Given the description of an element on the screen output the (x, y) to click on. 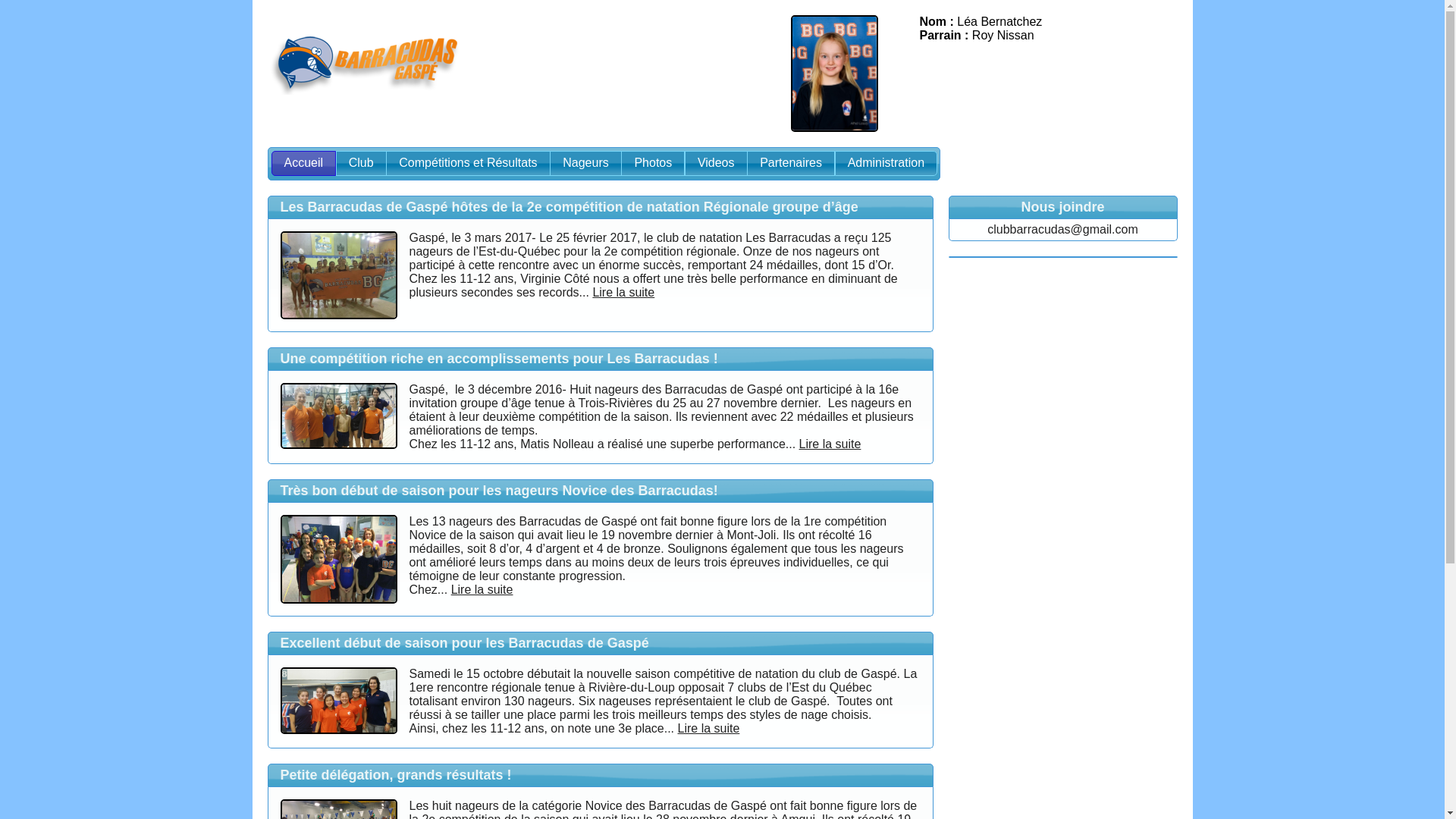
Nageurs Element type: text (585, 162)
clubbarracudas@gmail.com Element type: text (1062, 228)
Accueil Element type: text (303, 162)
Lire la suite Element type: text (830, 443)
Partenaires Element type: text (790, 162)
Lire la suite Element type: text (623, 291)
Lire la suite Element type: text (482, 589)
Photos Element type: text (652, 162)
Club Element type: text (360, 162)
Videos Element type: text (715, 162)
Lire la suite Element type: text (708, 727)
Administration Element type: text (885, 162)
